Given the description of an element on the screen output the (x, y) to click on. 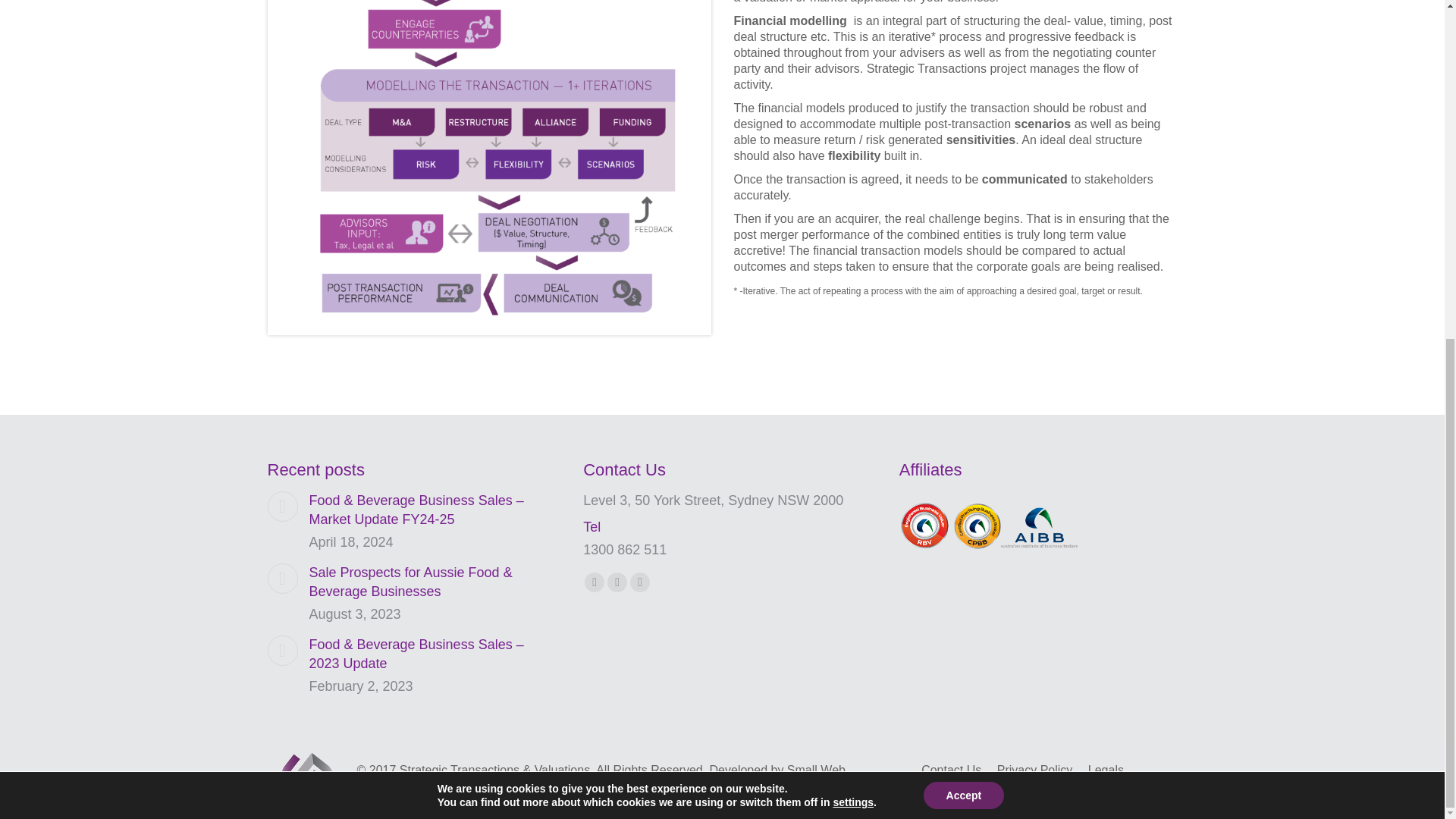
Twitter page opens in new window (617, 582)
Linkedin page opens in new window (639, 582)
Facebook page opens in new window (594, 582)
